Given the description of an element on the screen output the (x, y) to click on. 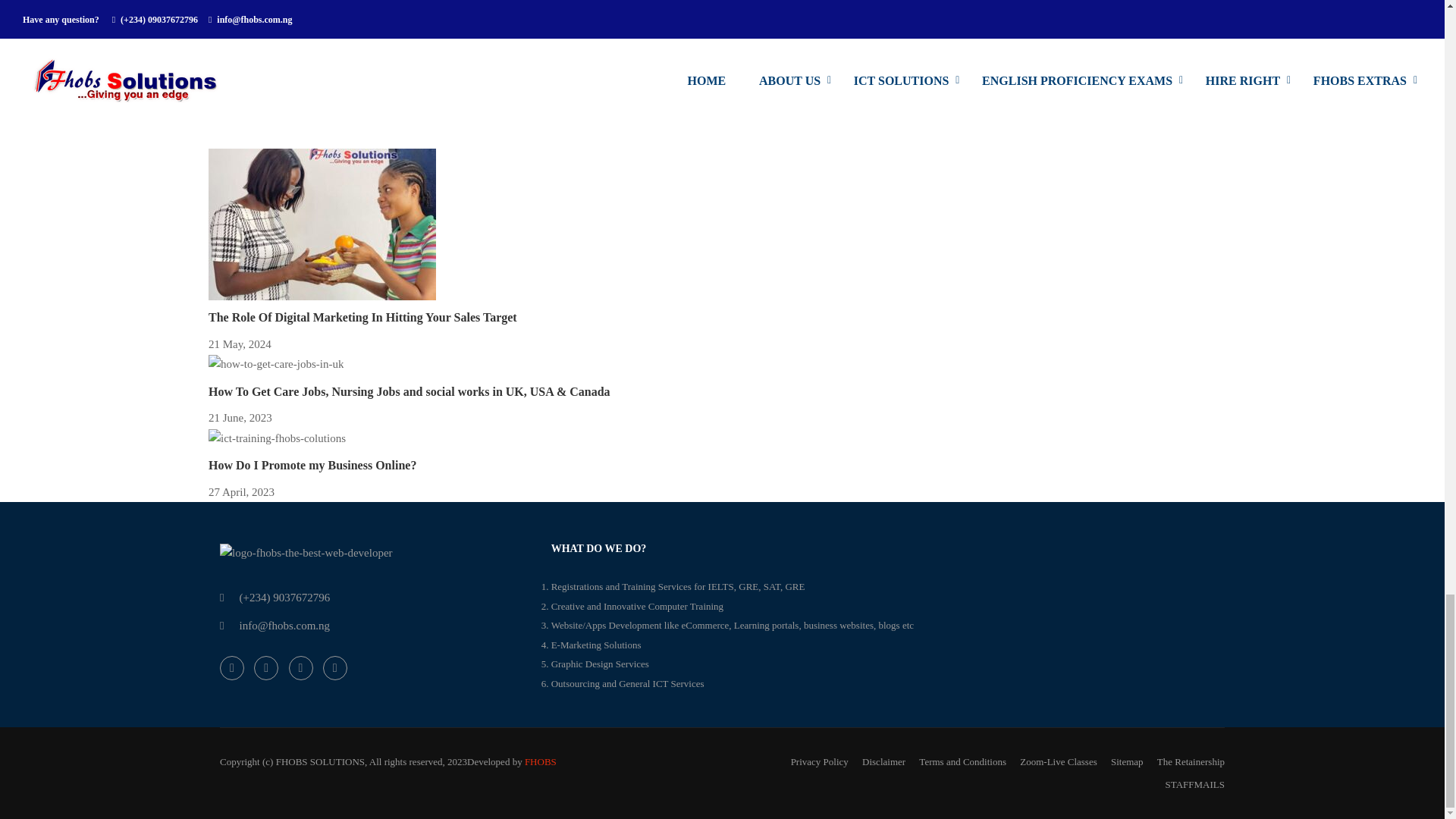
ict-training-fhobs-colutions (277, 438)
how-to-get-care-jobs-in-uk (275, 364)
The Role Of Digital Marketing In Hitting Your Sales Target (362, 317)
the-role-of-digital-marketing-in-hitting-your-sales-taget (321, 224)
